Given the description of an element on the screen output the (x, y) to click on. 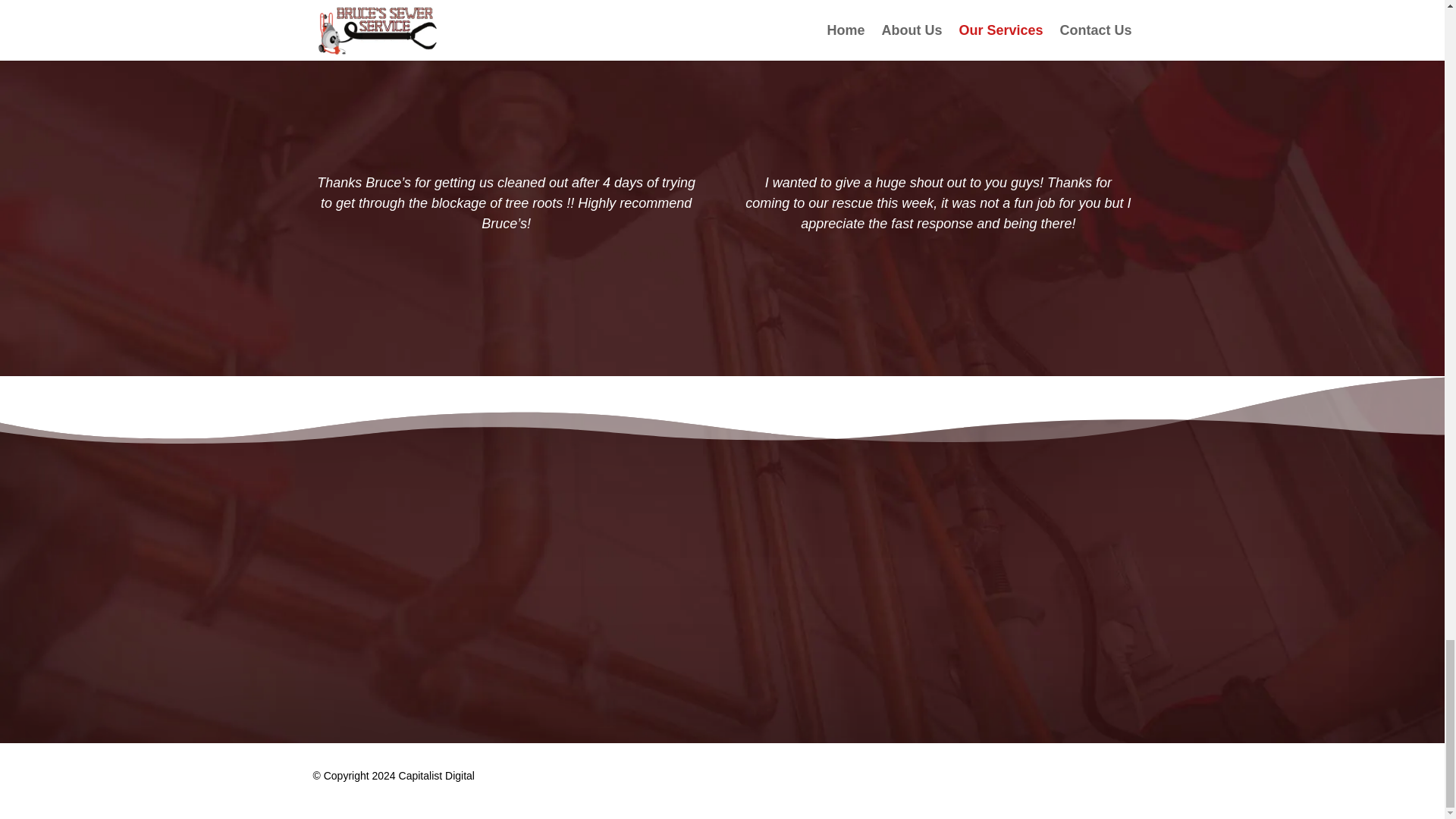
Capitalist Digital (436, 775)
